Given the description of an element on the screen output the (x, y) to click on. 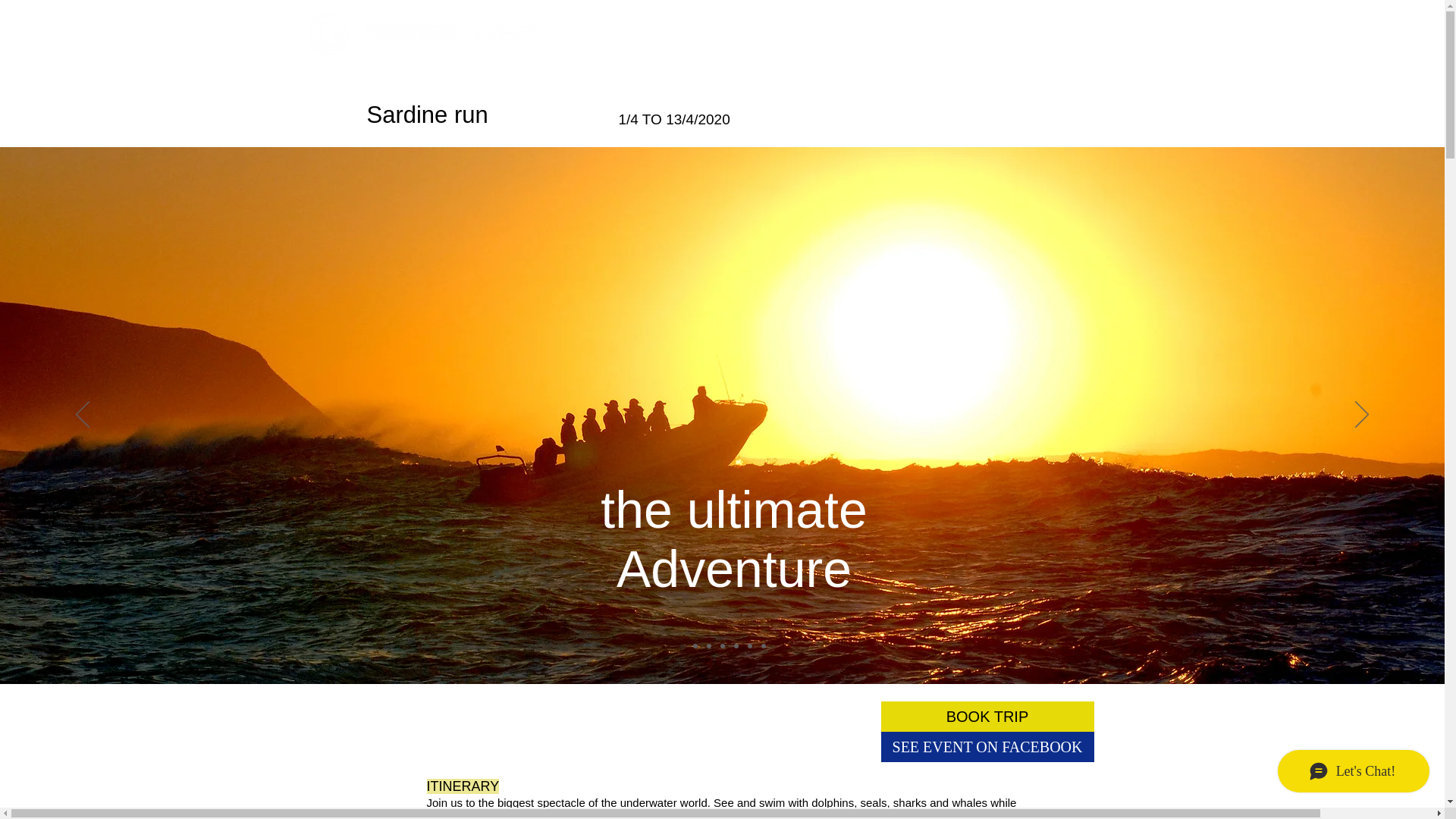
Wix Chat (1340, 774)
BOOK TRIP (987, 716)
REVIEWS (922, 33)
CONTACT (1036, 33)
SEE EVENT ON FACEBOOK (987, 747)
